Given the description of an element on the screen output the (x, y) to click on. 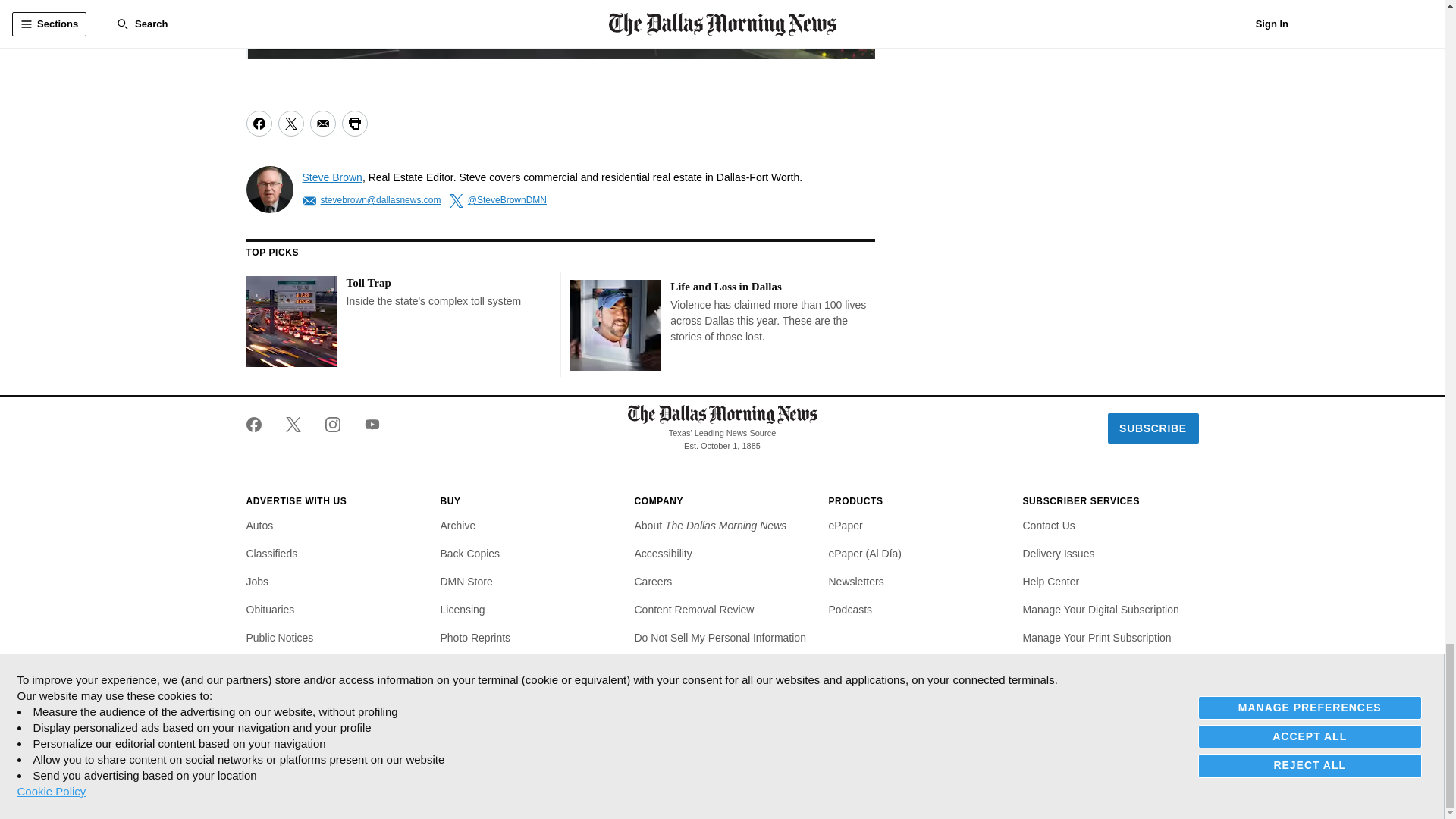
Share via Email (321, 123)
Print (353, 123)
Share on Facebook (258, 123)
The Dallas Morning News on Facebook (259, 424)
Share on Twitter (290, 123)
The Dallas Morning News on YouTube (365, 424)
The Dallas Morning News on Twitter (293, 424)
The Dallas Morning News on Instagram (332, 424)
